Given the description of an element on the screen output the (x, y) to click on. 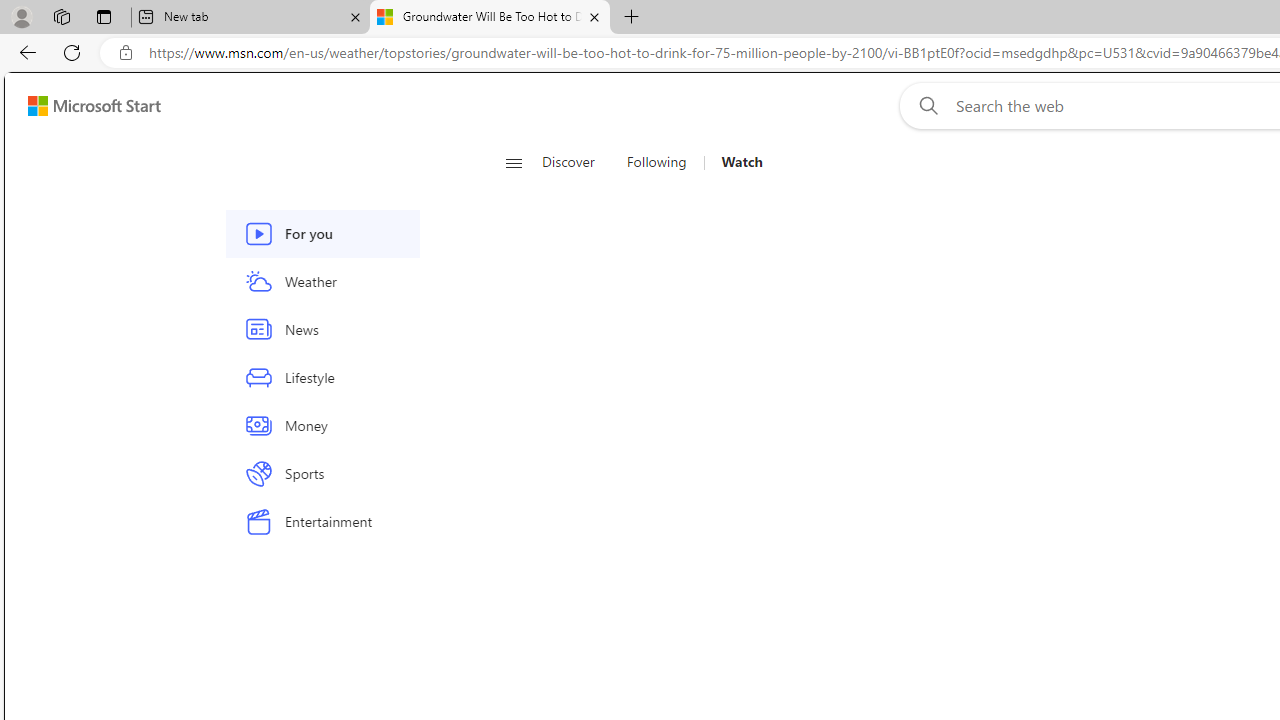
Skip to content (86, 105)
Skip to footer (82, 105)
Open navigation menu (513, 162)
